Given the description of an element on the screen output the (x, y) to click on. 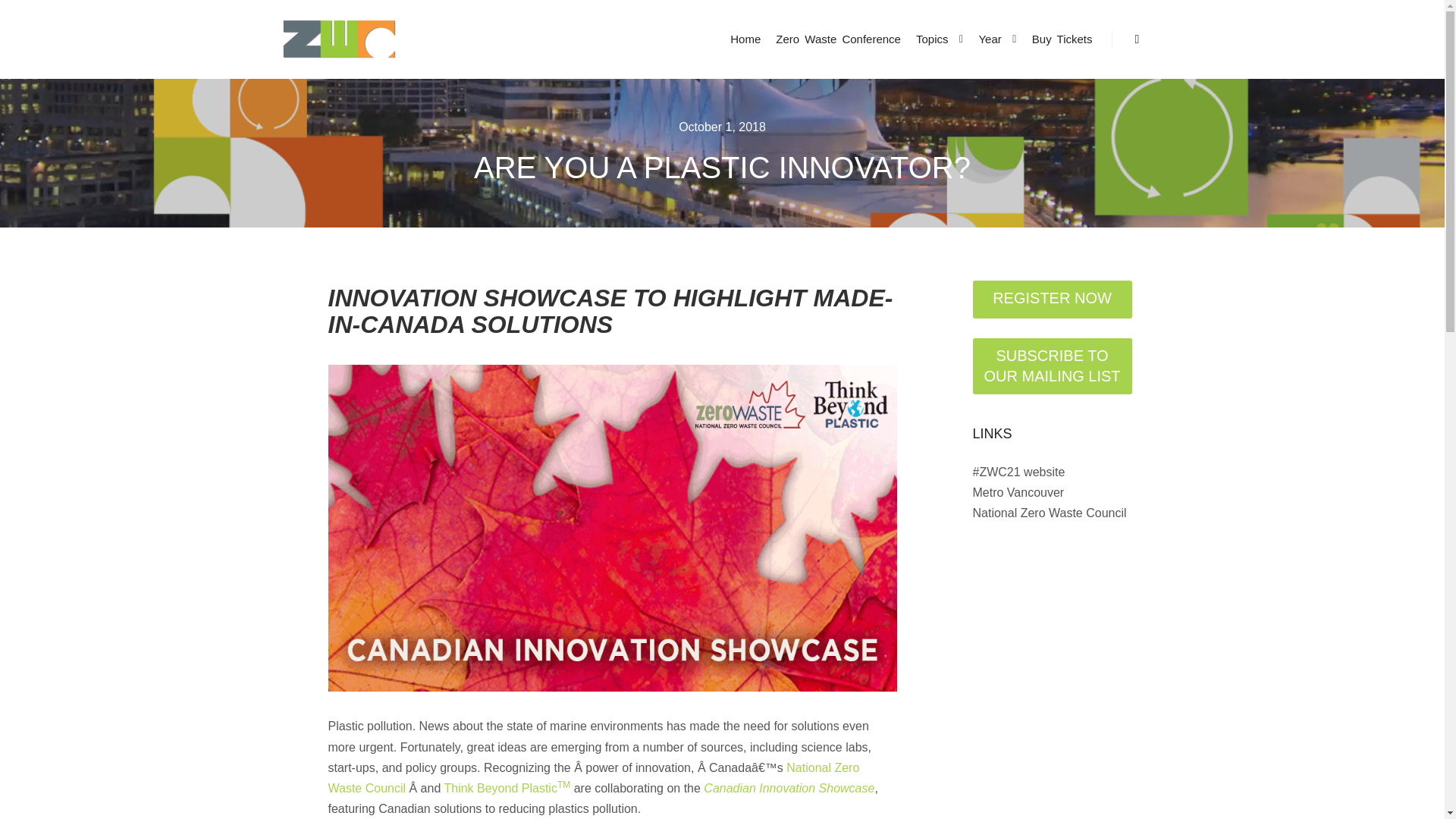
Search (1137, 39)
REGISTER NOW (1051, 299)
Metro Vancouver Zero Waste Conference Blog (339, 39)
SUBSCRIBE TO OUR MAILING LIST (1051, 365)
Think Beyond PlasticTM (507, 788)
Canadian Innovation Showcase (789, 788)
Buy Tickets (1062, 39)
National Zero Waste Council (593, 777)
Search (1137, 39)
Zero Waste Conference (838, 39)
